Given the description of an element on the screen output the (x, y) to click on. 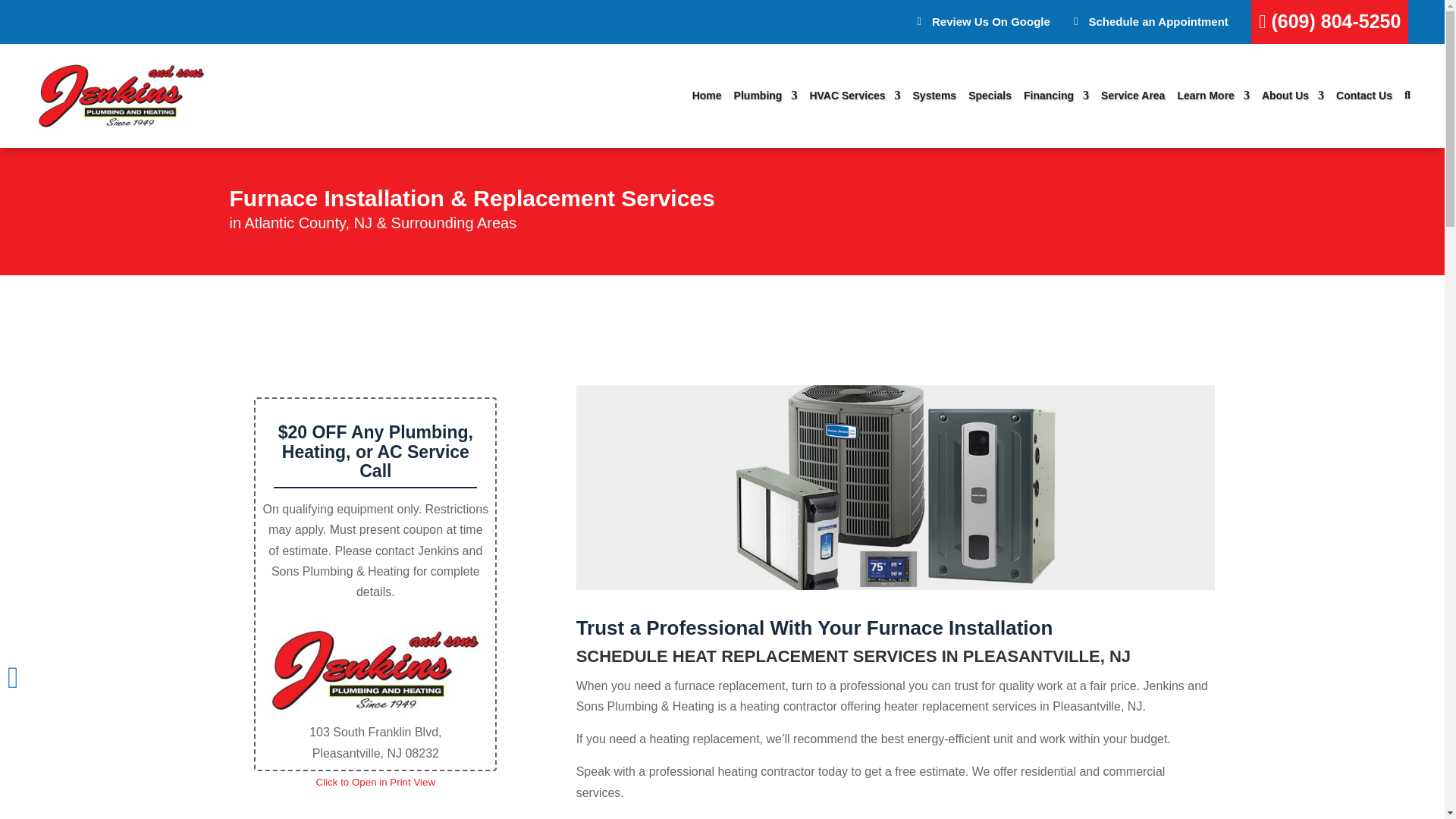
Schedule an Appointment (1150, 22)
HVAC Services (854, 94)
Review Us On Google (983, 22)
Financing (1056, 94)
Learn More (1212, 94)
